Given the description of an element on the screen output the (x, y) to click on. 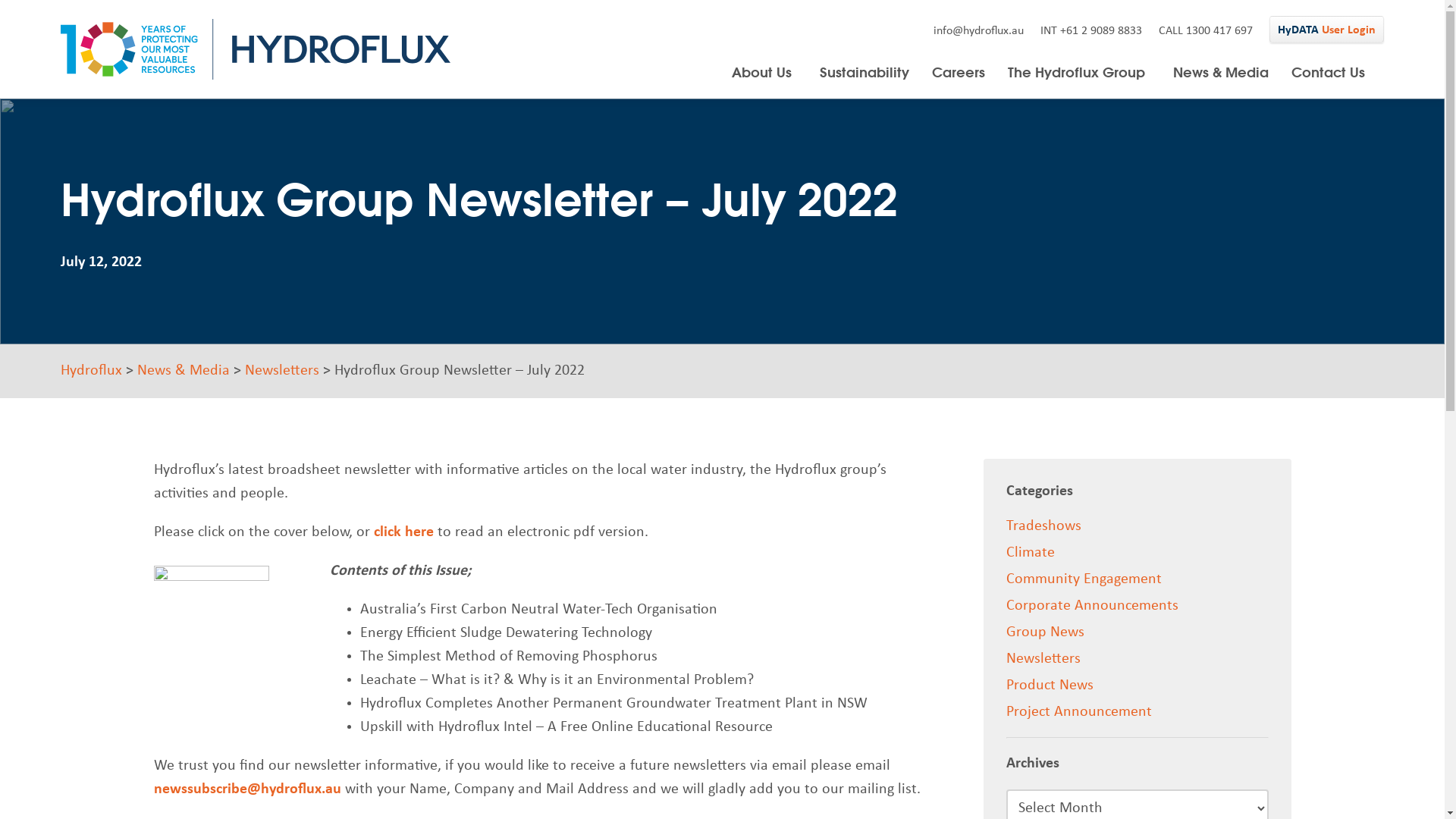
The Hydroflux Group Element type: text (1078, 71)
Sustainability Element type: text (864, 71)
Group News Element type: text (1045, 632)
CALL 1300 417 697 Element type: text (1205, 31)
News & Media Element type: text (183, 370)
INT +61 2 9089 8833 Element type: text (1091, 31)
info@hydroflux.au Element type: text (978, 31)
Contact Us Element type: text (1328, 71)
Tradeshows Element type: text (1043, 525)
About Us Element type: text (764, 71)
click here Element type: text (403, 531)
Corporate Announcements Element type: text (1092, 605)
News & Media Element type: text (1220, 71)
newssubscribe@hydroflux.au Element type: text (246, 789)
Climate Element type: text (1030, 552)
Project Announcement Element type: text (1078, 711)
Search Element type: text (868, 163)
Product News Element type: text (1049, 685)
HyDATA
 User Login Element type: text (1326, 28)
Careers Element type: text (958, 71)
Newsletters Element type: text (281, 370)
Hydroflux Element type: text (91, 370)
Newsletters Element type: text (1043, 658)
Community Engagement Element type: text (1083, 578)
